Given the description of an element on the screen output the (x, y) to click on. 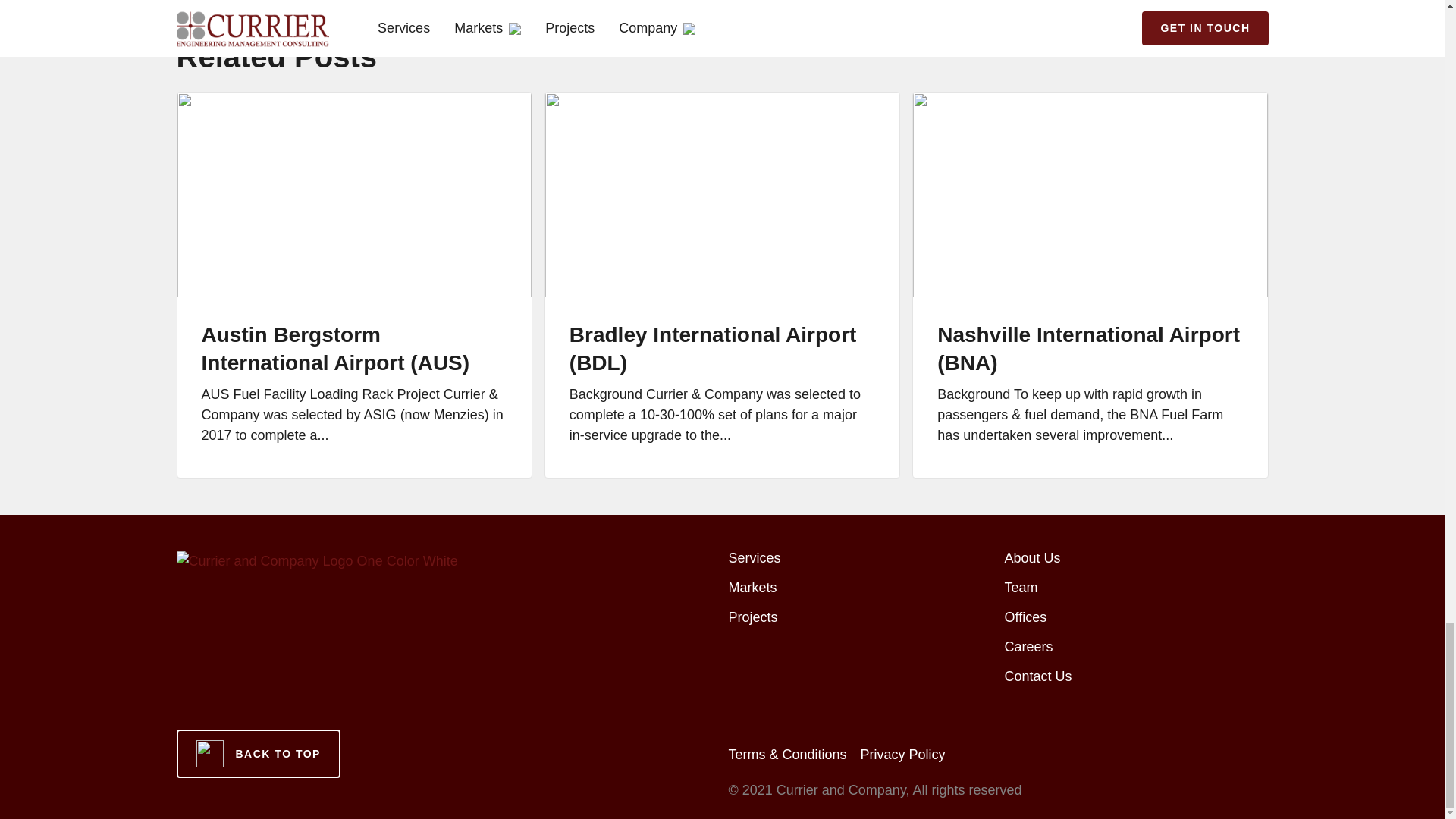
Team (1020, 587)
Contact Us (1037, 676)
Careers (1028, 646)
Offices (1025, 616)
Markets (752, 587)
About Us (1031, 557)
Services (754, 557)
Projects (752, 616)
Privacy Policy (902, 754)
BACK TO TOP (257, 753)
